Given the description of an element on the screen output the (x, y) to click on. 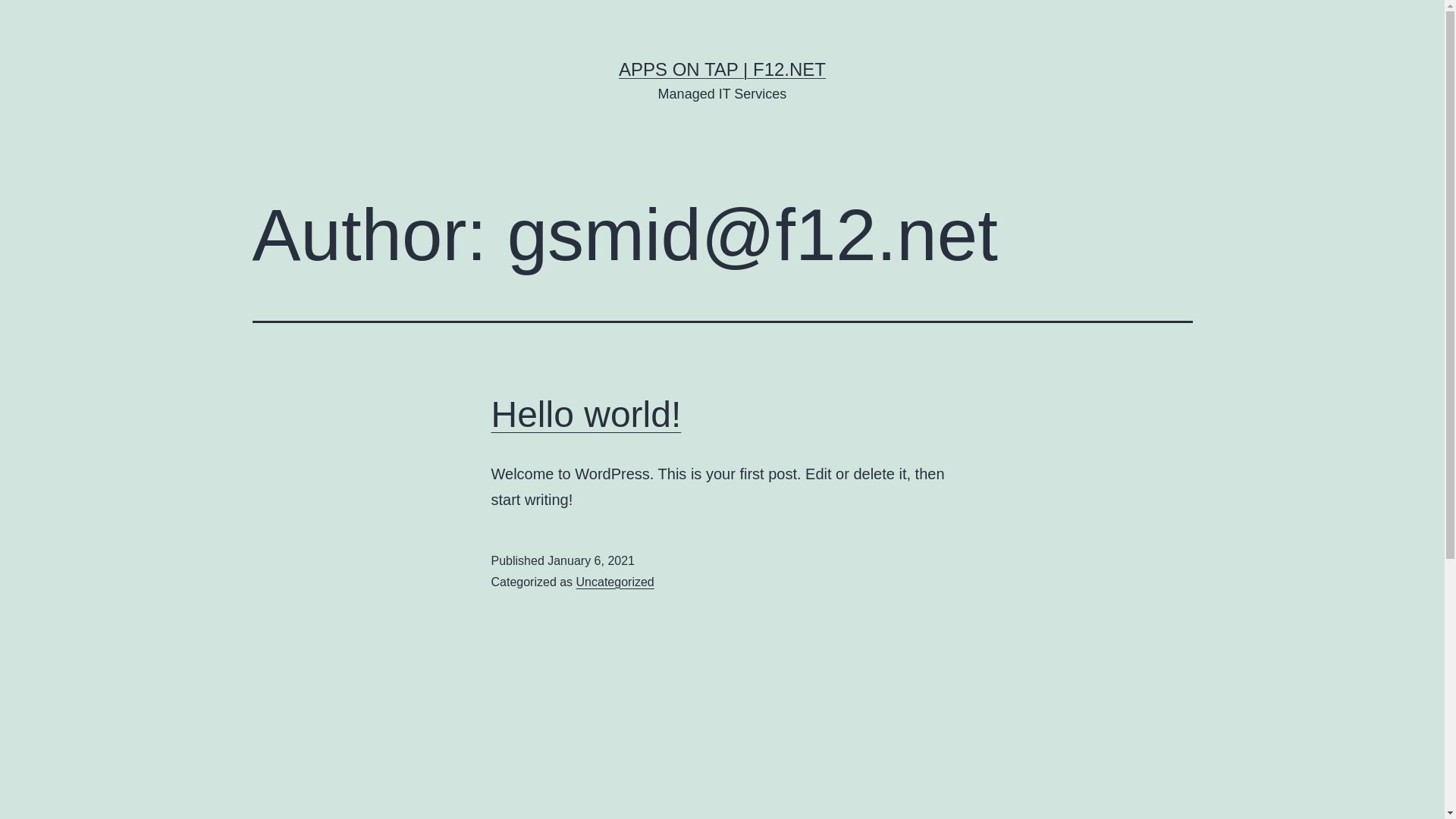
APPS ON TAP | F12.NET Element type: text (721, 69)
Uncategorized Element type: text (615, 581)
Hello world! Element type: text (586, 414)
